Given the description of an element on the screen output the (x, y) to click on. 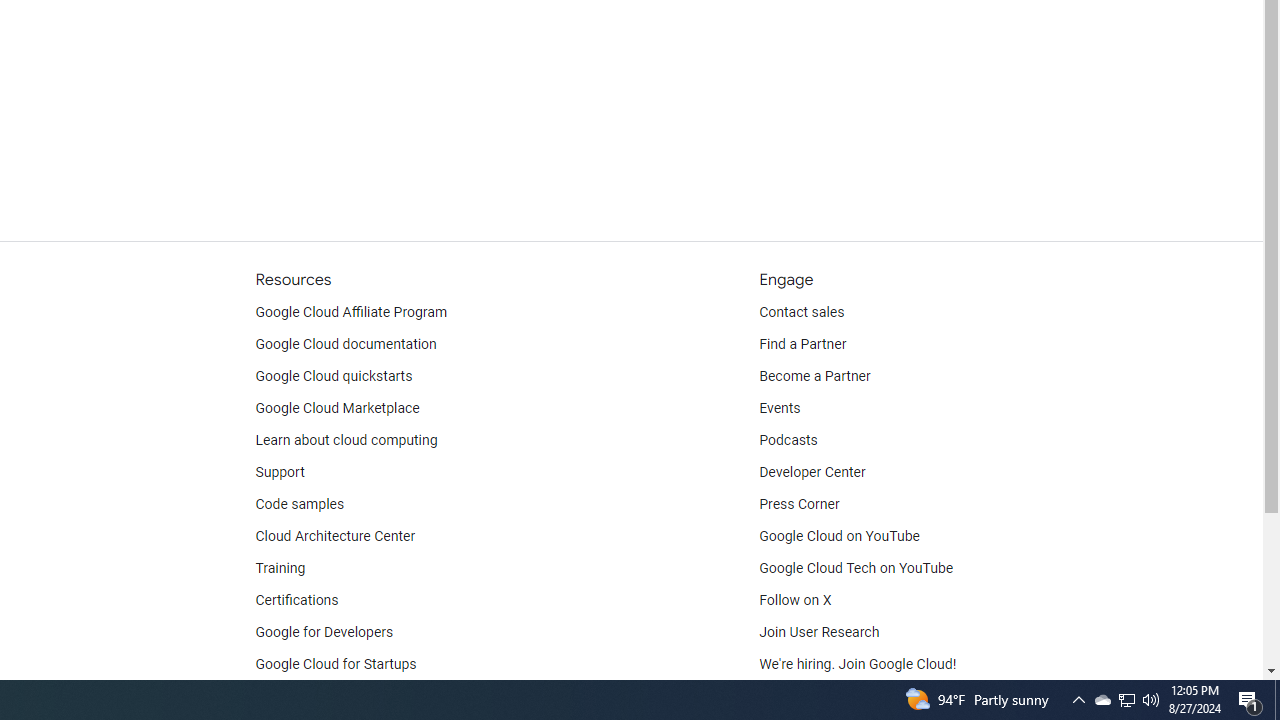
Google Cloud Marketplace (336, 408)
Cloud Architecture Center (335, 536)
Google Cloud Tech on YouTube (856, 568)
Google Cloud documentation (345, 344)
Google Cloud Affiliate Program (351, 312)
Events (780, 408)
Find a Partner (803, 344)
Follow on X (795, 600)
Join User Research (819, 632)
Support (279, 472)
Google Cloud on YouTube (839, 536)
Podcasts (788, 440)
Google Cloud quickstarts (333, 376)
We're hiring. Join Google Cloud! (858, 664)
